Given the description of an element on the screen output the (x, y) to click on. 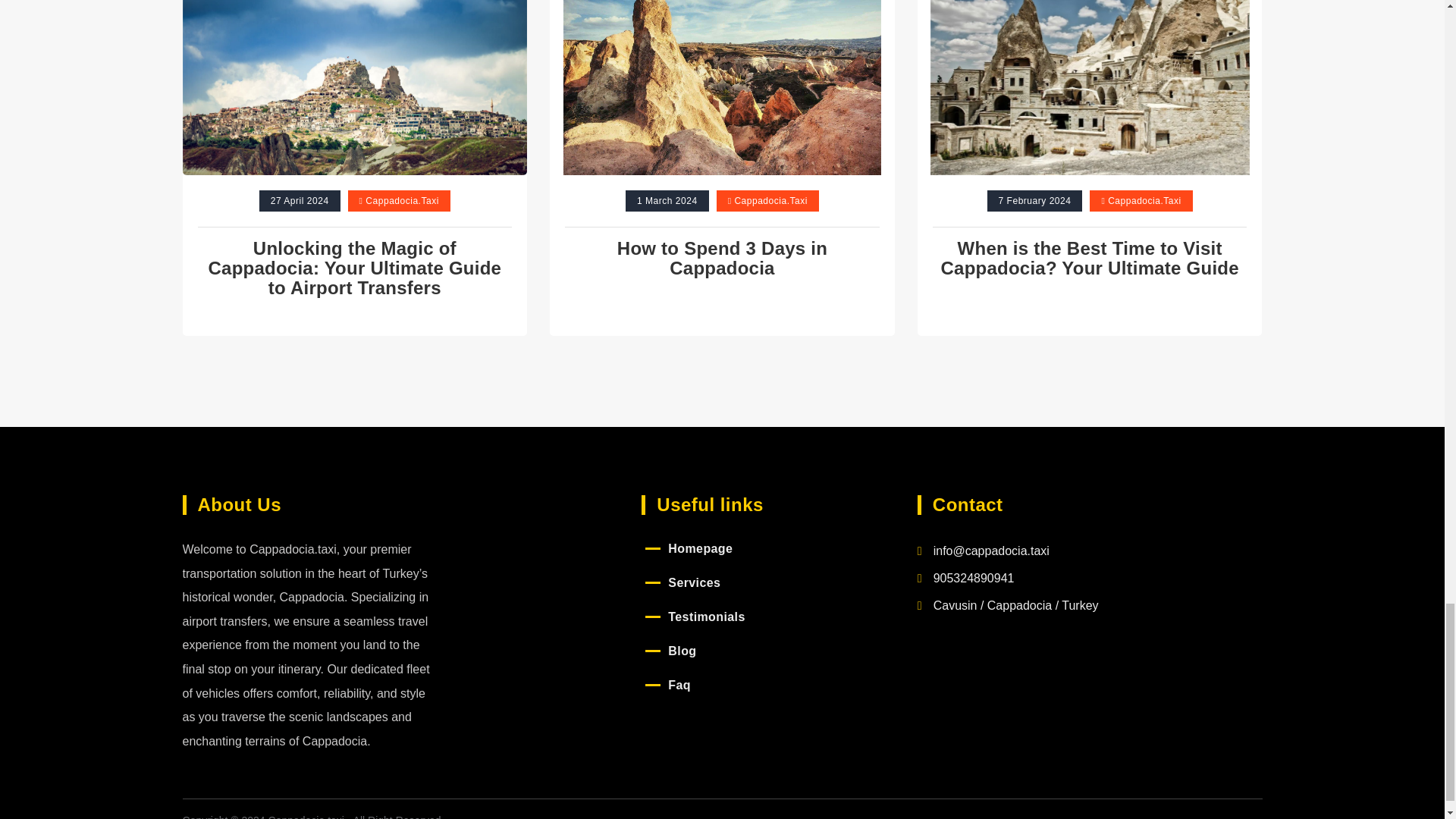
How to Spend 3 Days in Cappadocia (722, 258)
Cappadocia.Taxi (770, 200)
Cappadocia.Taxi (1144, 200)
Cappadocia.Taxi (402, 200)
